Given the description of an element on the screen output the (x, y) to click on. 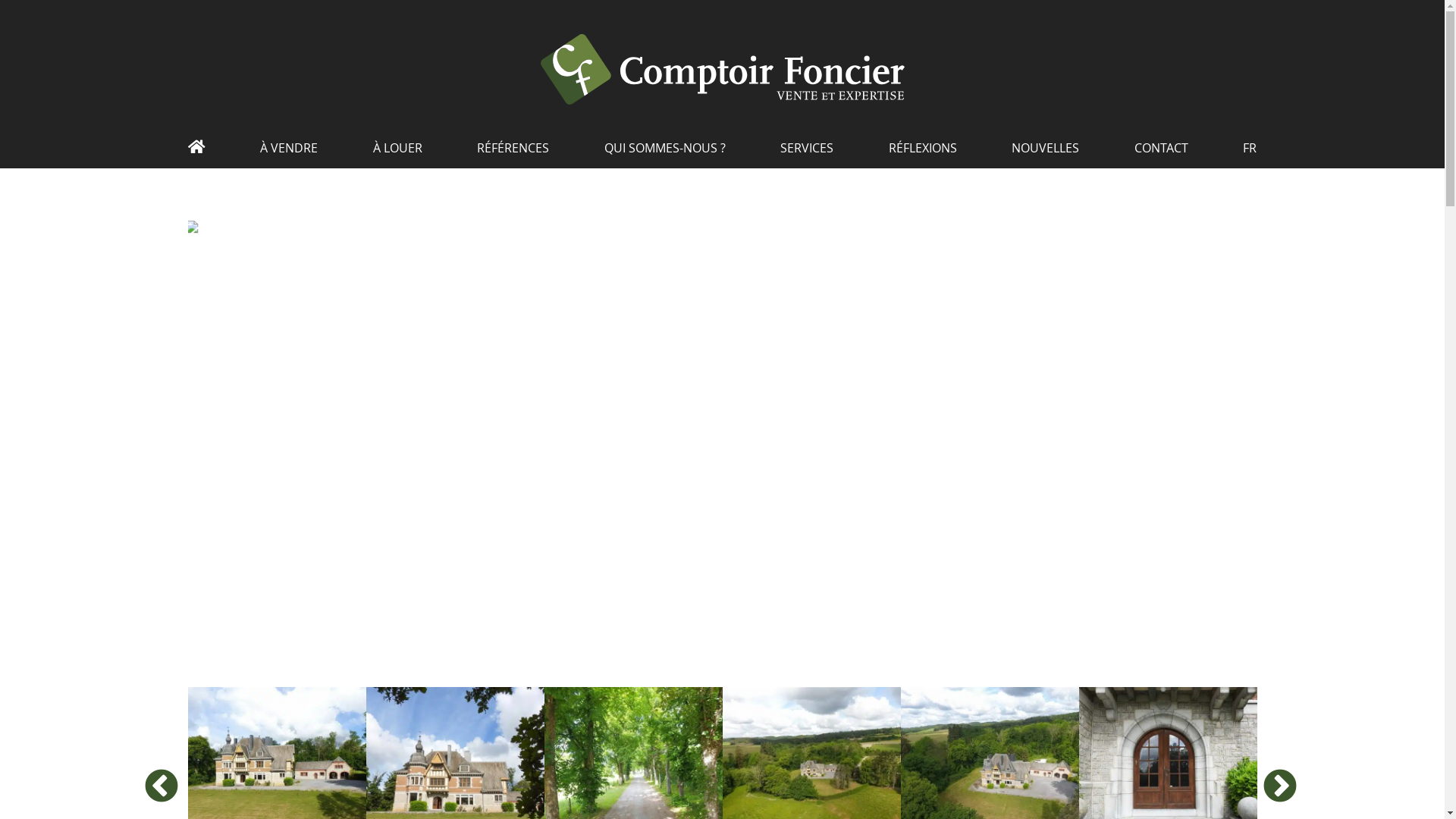
FR Element type: text (1249, 153)
QUI SOMMES-NOUS ? Element type: text (664, 153)
Next Element type: text (1267, 775)
Previous Element type: text (175, 775)
CONTACT Element type: text (1161, 153)
SERVICES Element type: text (806, 153)
NOUVELLES Element type: text (1045, 153)
